Given the description of an element on the screen output the (x, y) to click on. 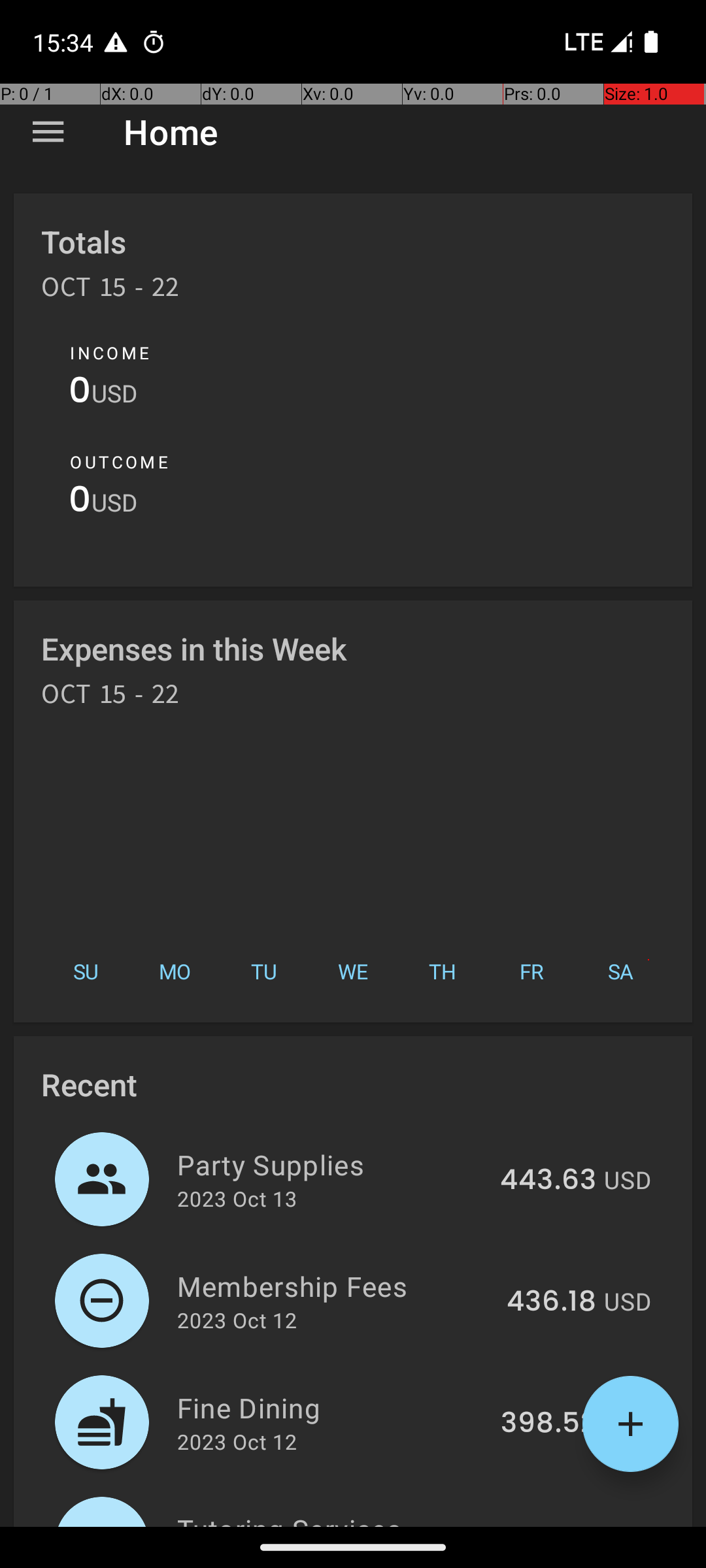
Party Supplies Element type: android.widget.TextView (330, 1164)
443.63 Element type: android.widget.TextView (547, 1180)
Membership Fees Element type: android.widget.TextView (334, 1285)
436.18 Element type: android.widget.TextView (550, 1301)
Fine Dining Element type: android.widget.TextView (331, 1407)
398.52 Element type: android.widget.TextView (548, 1423)
Tutoring Services Element type: android.widget.TextView (334, 1518)
104.25 Element type: android.widget.TextView (551, 1524)
